Given the description of an element on the screen output the (x, y) to click on. 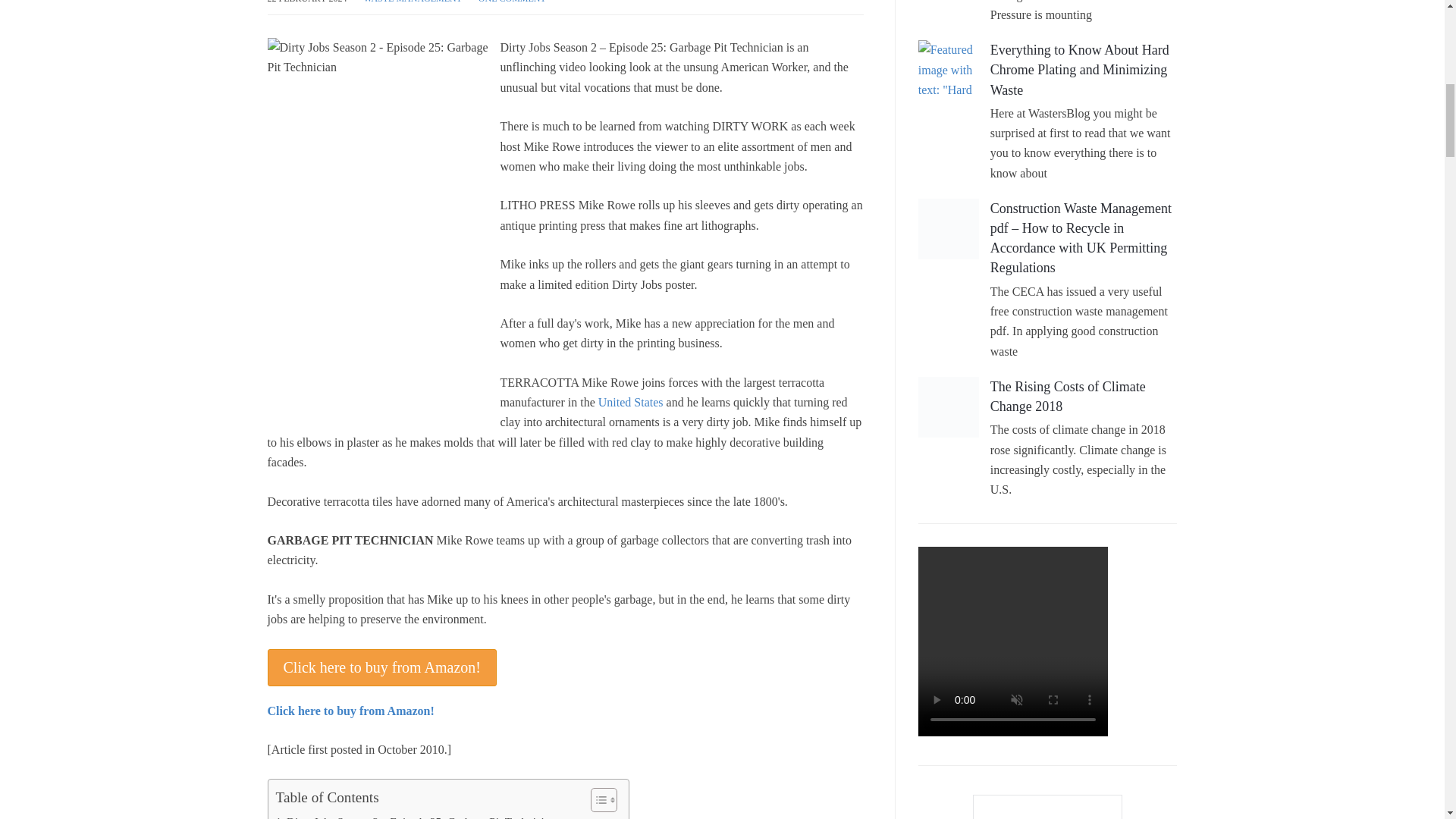
ONE COMMENT (512, 2)
United States (630, 401)
Click here to buy from Amazon! (349, 710)
Click here to buy from Amazon! (381, 667)
WASTE MANAGEMENT (411, 2)
